Given the description of an element on the screen output the (x, y) to click on. 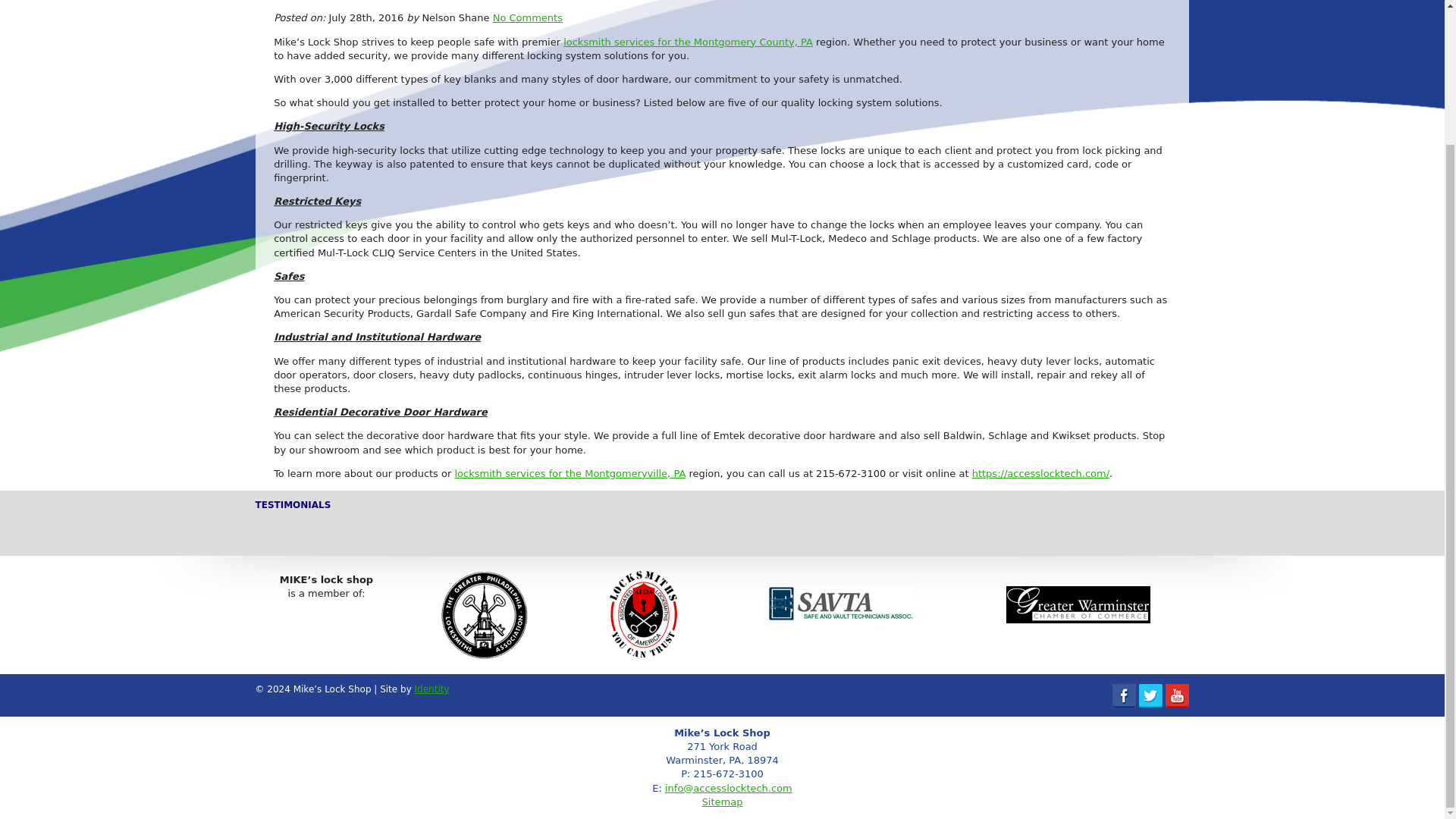
No Comments (527, 17)
Identity (431, 688)
locksmith services for the Montgomery County, PA (687, 41)
locksmith services for the Montgomeryville, PA (569, 473)
Sitemap (721, 801)
